Given the description of an element on the screen output the (x, y) to click on. 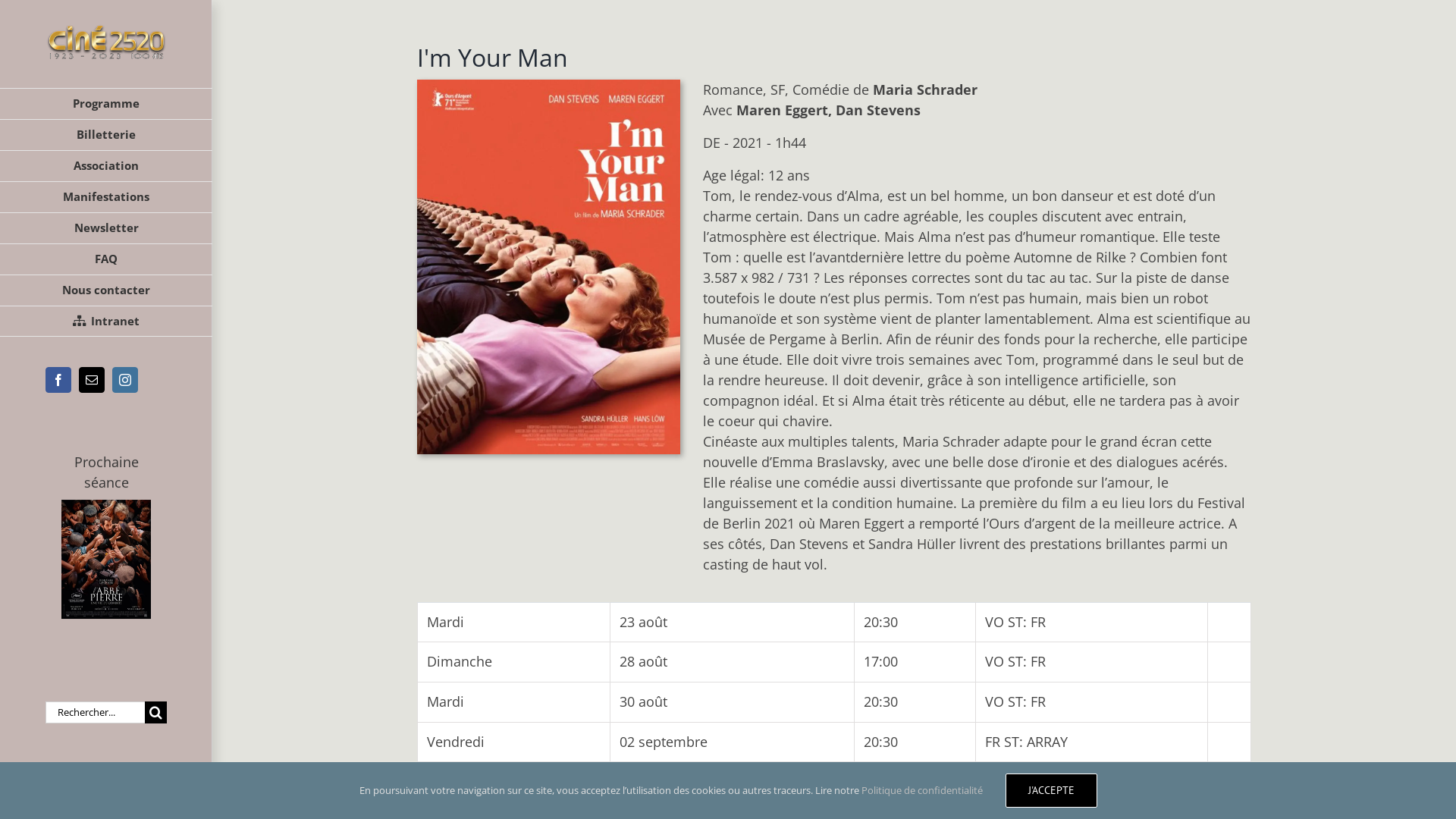
J'ACCEPTE Element type: text (1051, 790)
Email Element type: text (91, 379)
Manifestations Element type: text (106, 197)
FAQ Element type: text (106, 259)
Billetterie Element type: text (106, 134)
Association Element type: text (106, 166)
Instagram Element type: text (125, 379)
Programme Element type: text (106, 103)
Newsletter Element type: text (106, 228)
Facebook Element type: text (58, 379)
Nous contacter Element type: text (106, 290)
Intranet Element type: text (106, 321)
